Given the description of an element on the screen output the (x, y) to click on. 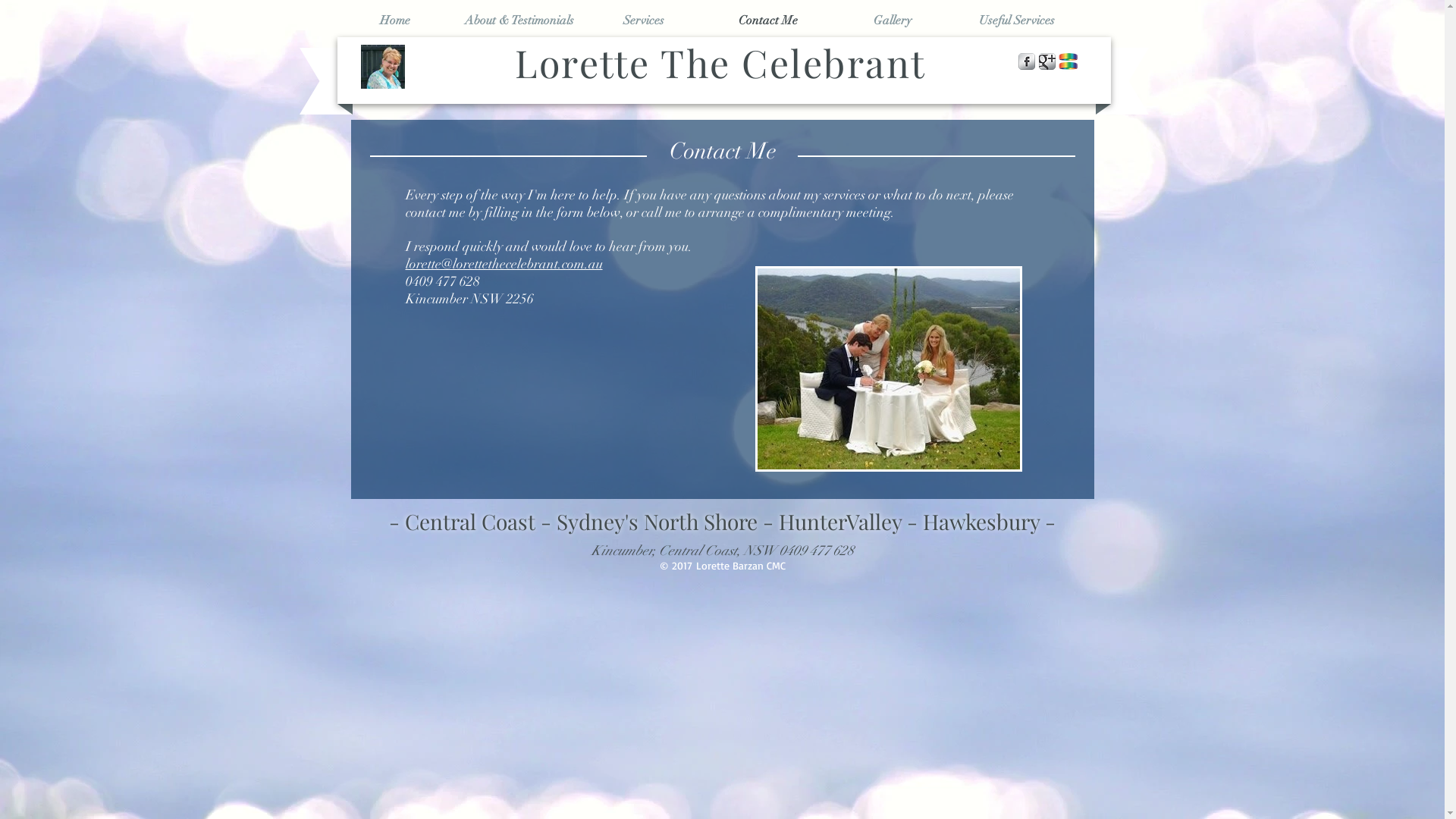
About & Testimonials Element type: text (519, 20)
rings 2.png Element type: hover (1067, 61)
Useful Services Element type: text (1016, 20)
Gallery Element type: text (892, 20)
Contact Me Element type: text (768, 20)
lorette@lorettethecelebrant.com.au Element type: text (503, 262)
Hawksbury small.png Element type: hover (888, 368)
Services Element type: text (643, 20)
Home Element type: text (394, 20)
